Given the description of an element on the screen output the (x, y) to click on. 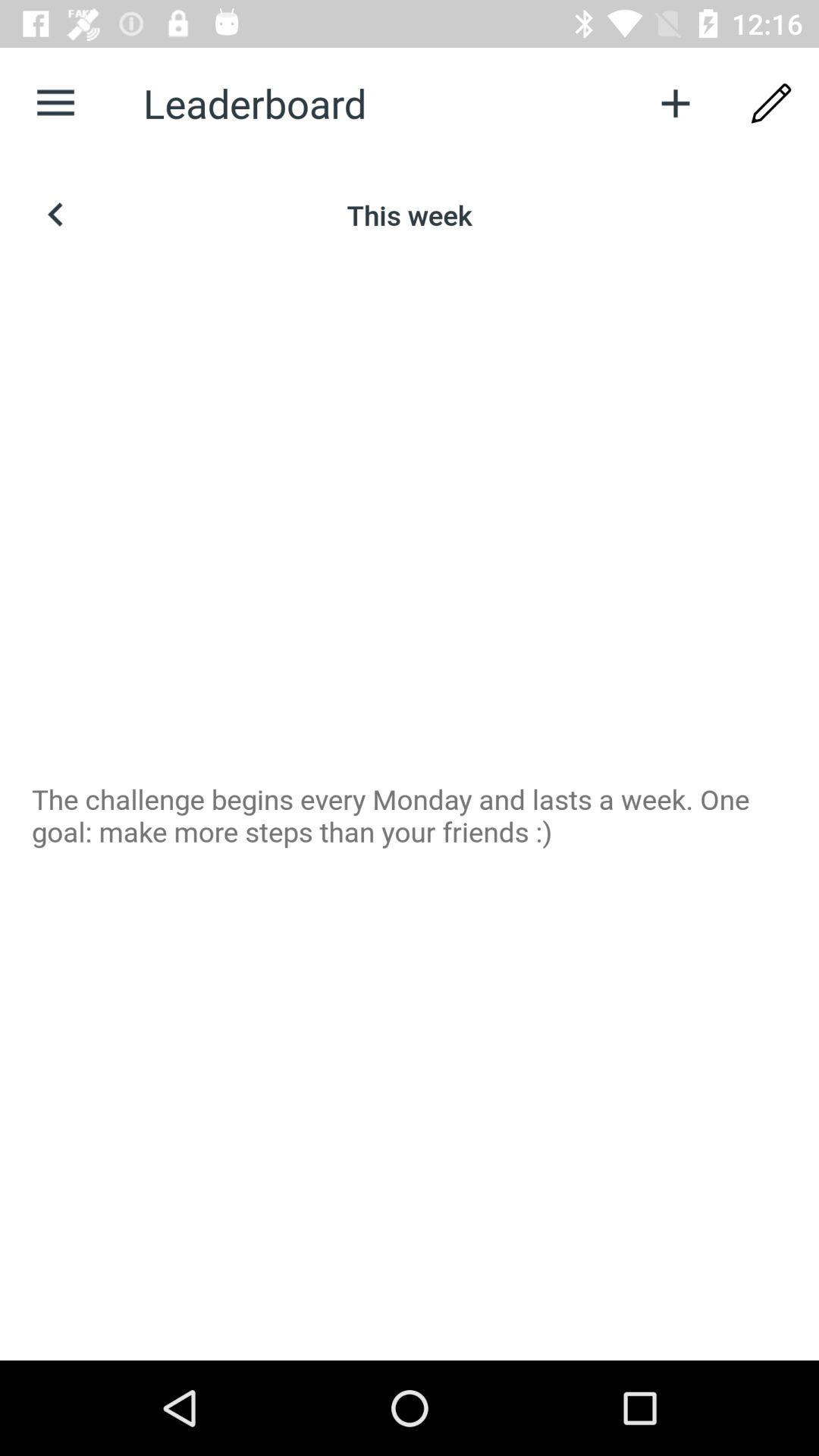
tap item above the the challenge begins icon (55, 214)
